Given the description of an element on the screen output the (x, y) to click on. 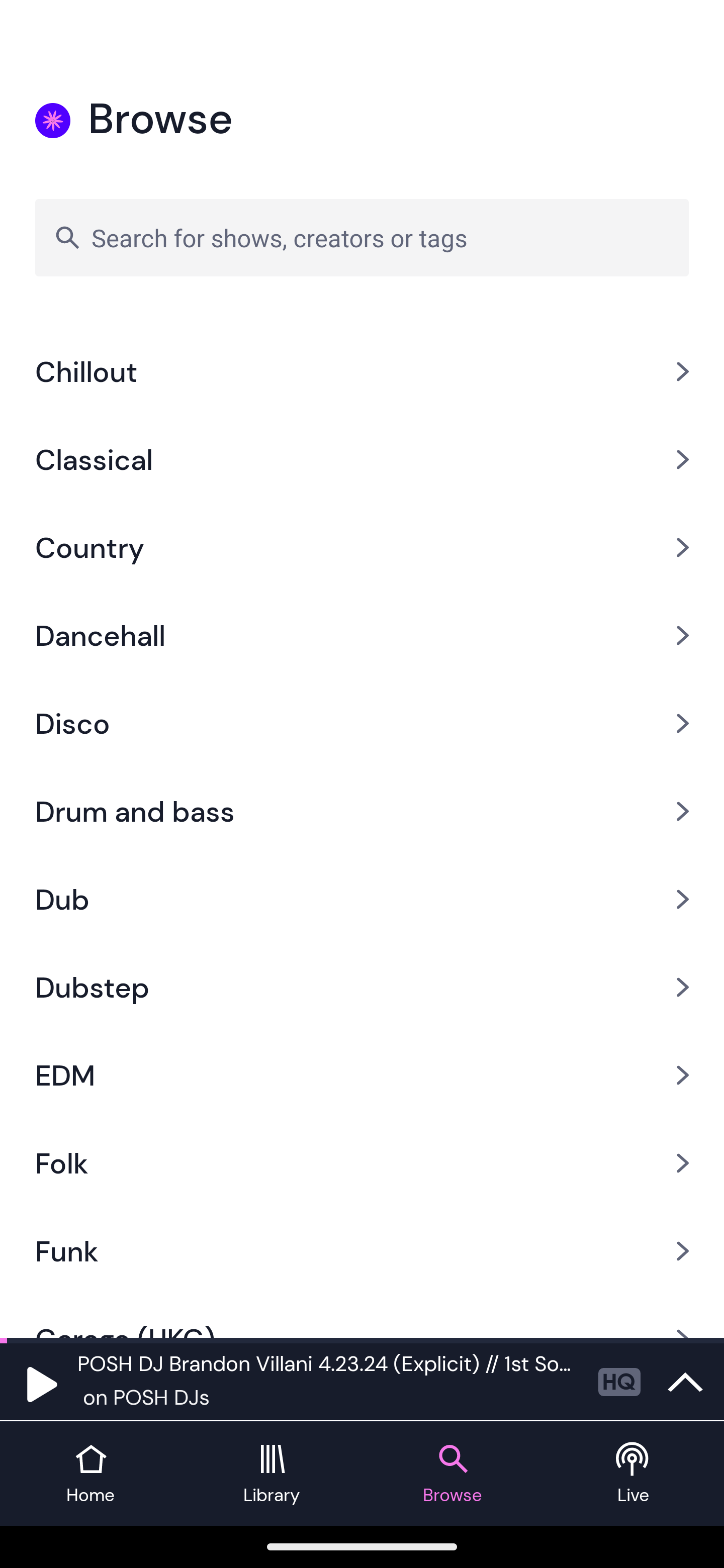
Search for shows, creators or tags (361, 237)
Chillout (361, 371)
Classical (361, 459)
Country (361, 547)
Dancehall (361, 634)
Disco (361, 722)
Drum and bass (361, 811)
Dub (361, 899)
Dubstep (361, 987)
EDM (361, 1075)
Folk (361, 1163)
Funk (361, 1251)
Home tab Home (90, 1473)
Library tab Library (271, 1473)
Browse tab Browse (452, 1473)
Live tab Live (633, 1473)
